Given the description of an element on the screen output the (x, y) to click on. 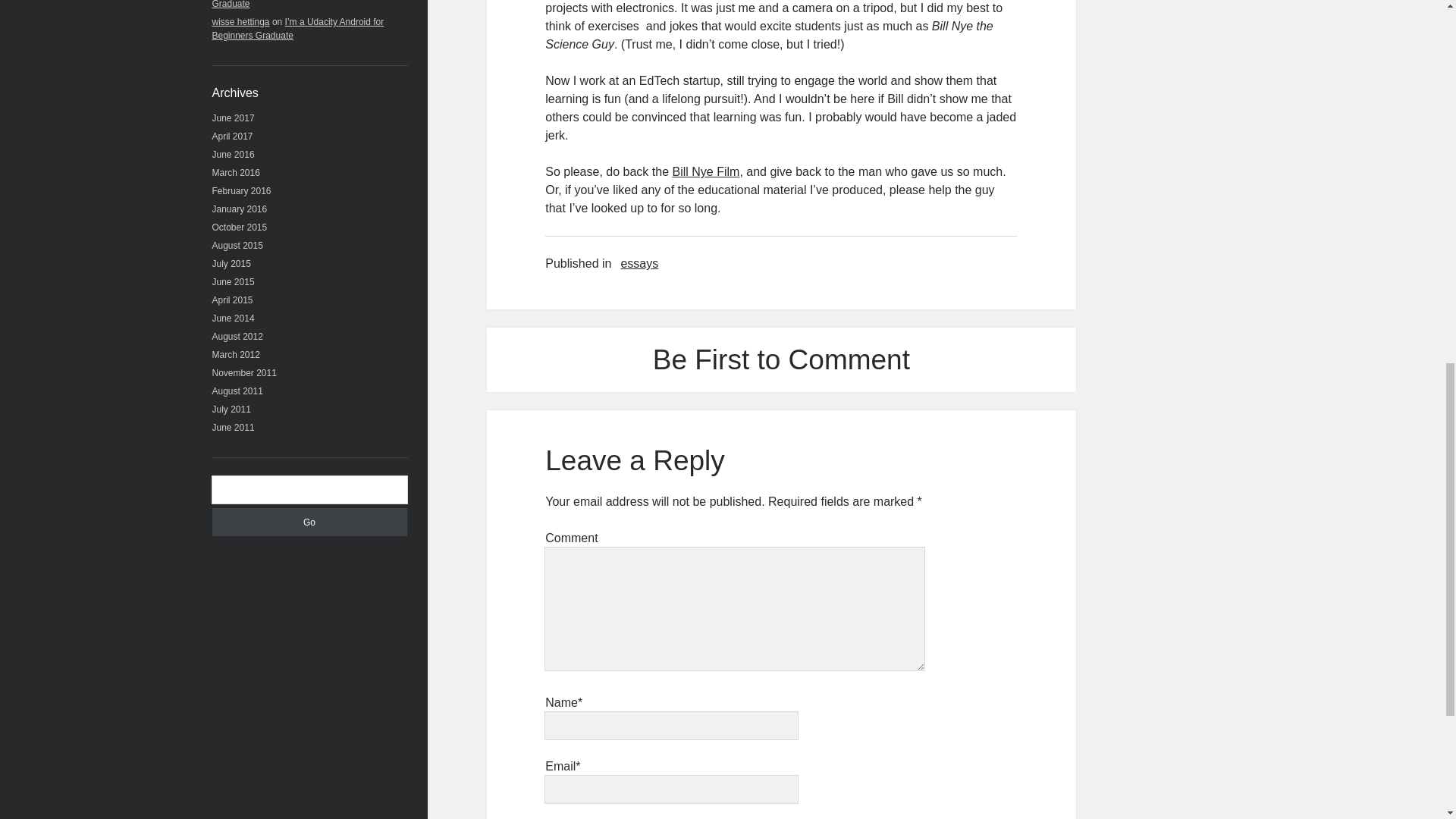
August 2015 (237, 245)
April 2015 (232, 299)
June 2015 (233, 281)
July 2015 (231, 263)
June 2016 (233, 154)
June 2017 (233, 118)
wisse hettinga (240, 21)
Go (309, 521)
August 2012 (237, 336)
January 2016 (239, 208)
